Given the description of an element on the screen output the (x, y) to click on. 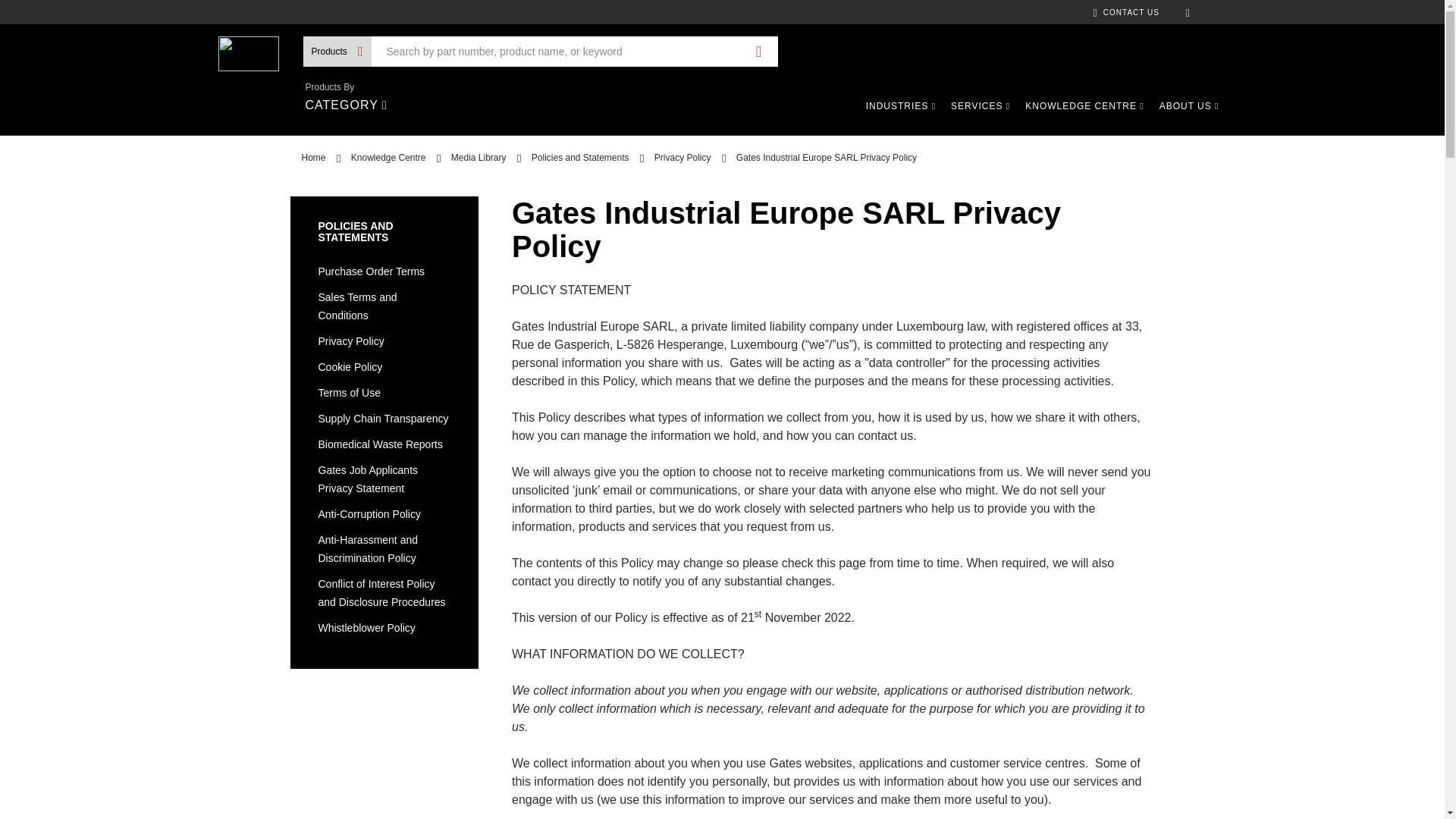
CONTACT US (1125, 12)
Home (313, 157)
Policies and Statements (579, 157)
Gates Industrial Europe SARL Privacy Policy (826, 157)
Media Library (478, 157)
Privacy Policy (682, 157)
Knowledge Centre (388, 157)
